Given the description of an element on the screen output the (x, y) to click on. 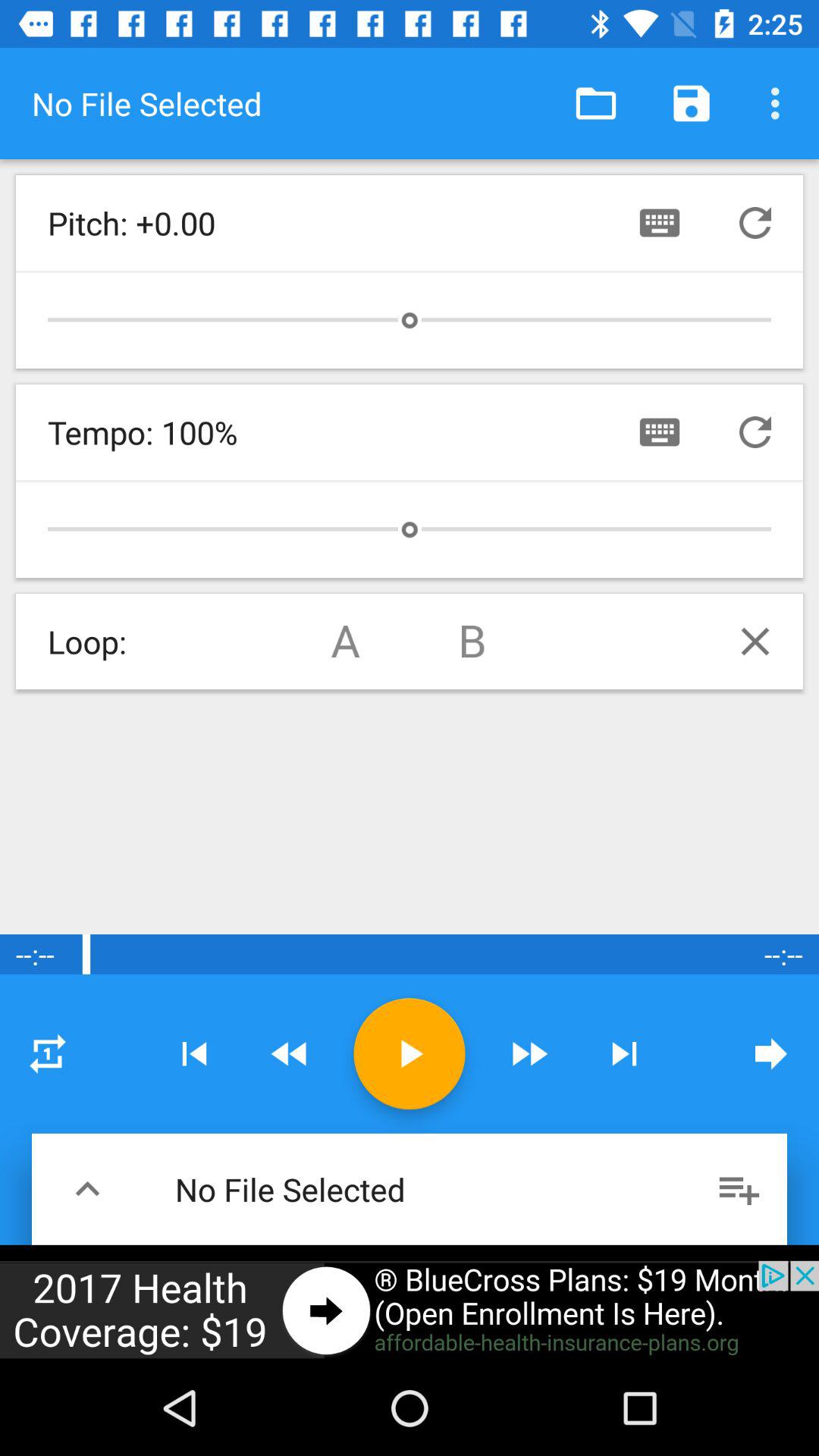
forward (289, 1053)
